Given the description of an element on the screen output the (x, y) to click on. 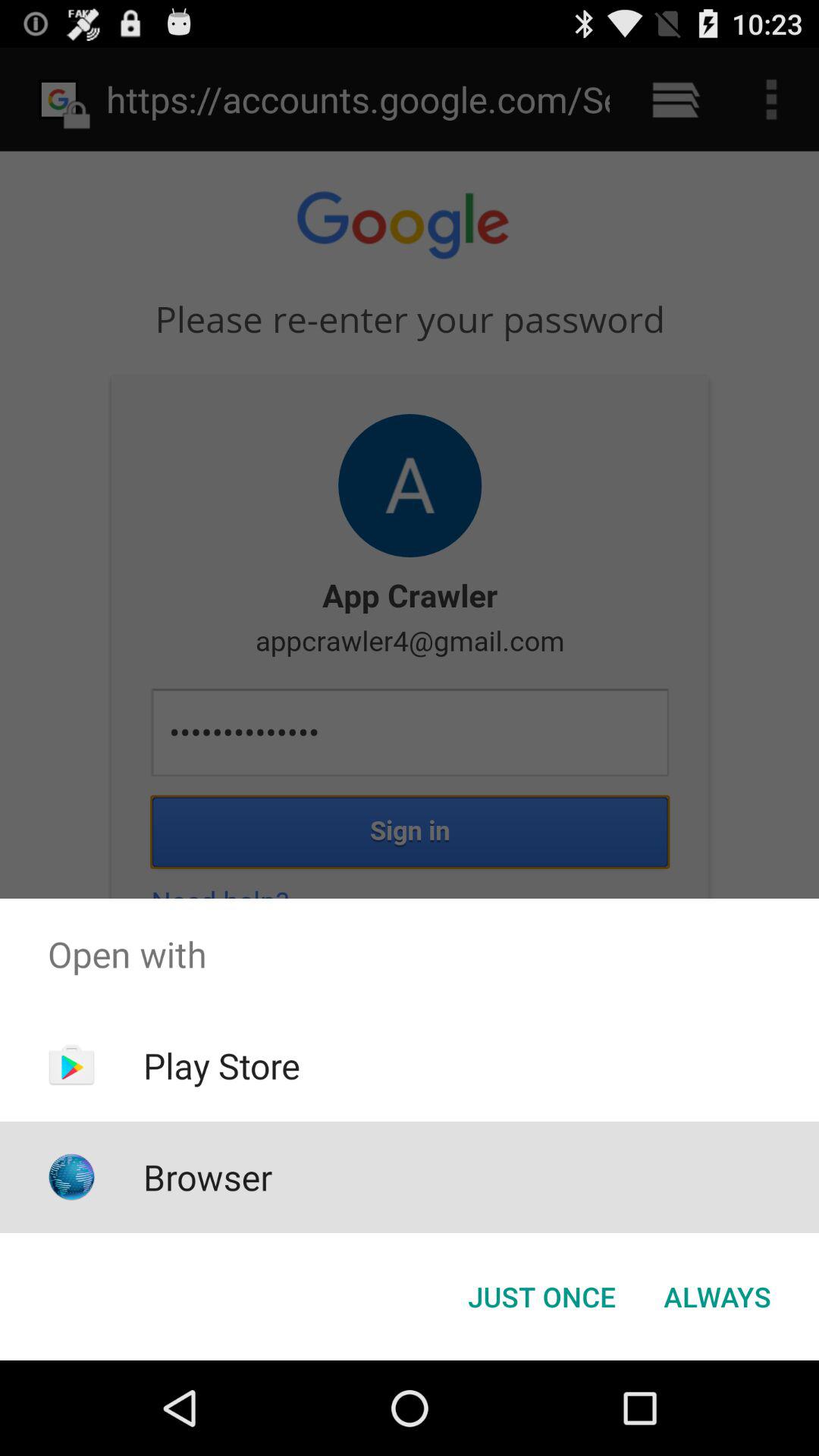
launch icon below play store app (207, 1176)
